Given the description of an element on the screen output the (x, y) to click on. 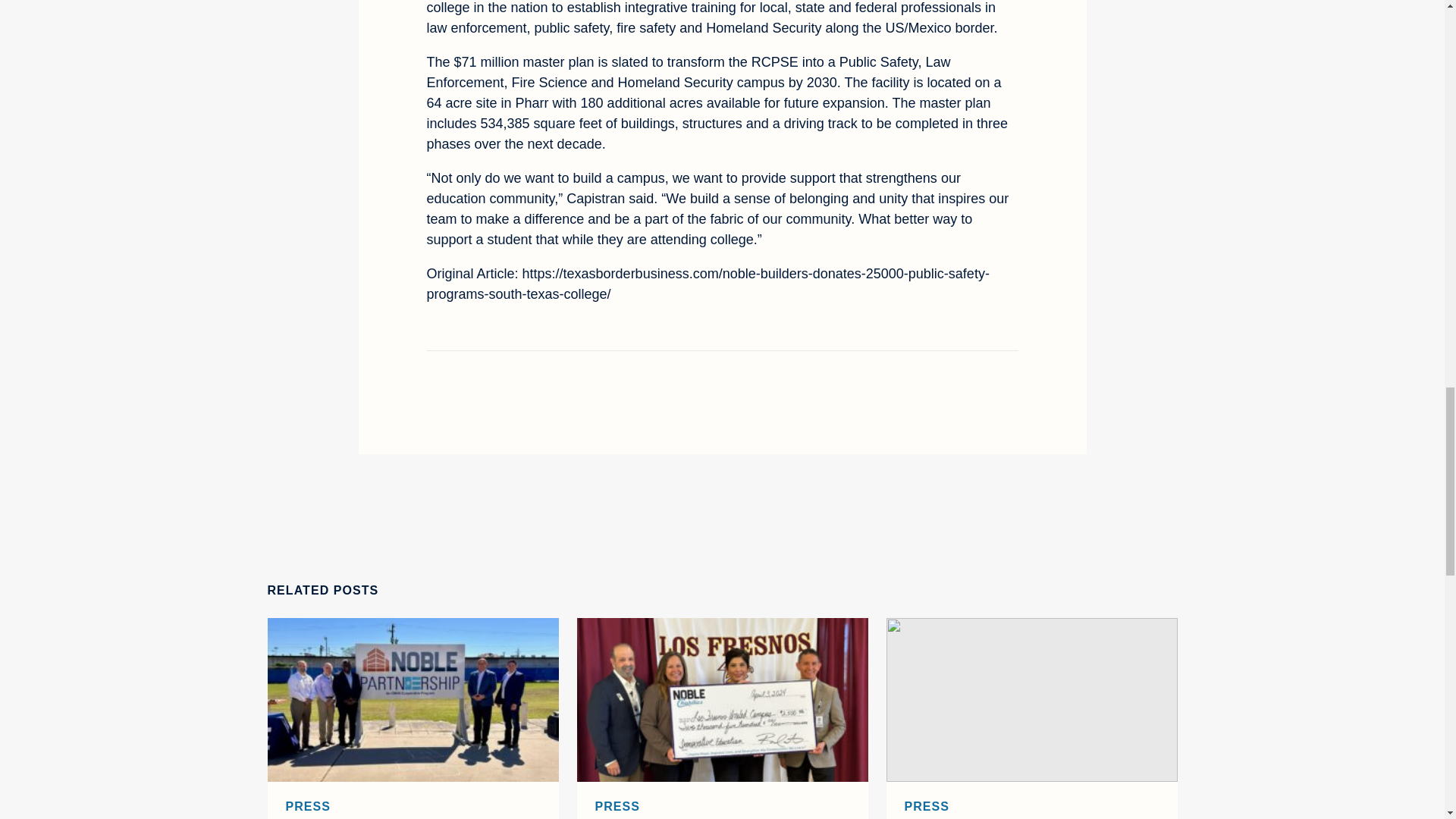
Noble Texas Builders visits TSTC for employer spotlight (1030, 700)
PRESS (307, 806)
PRESS (617, 806)
